Given the description of an element on the screen output the (x, y) to click on. 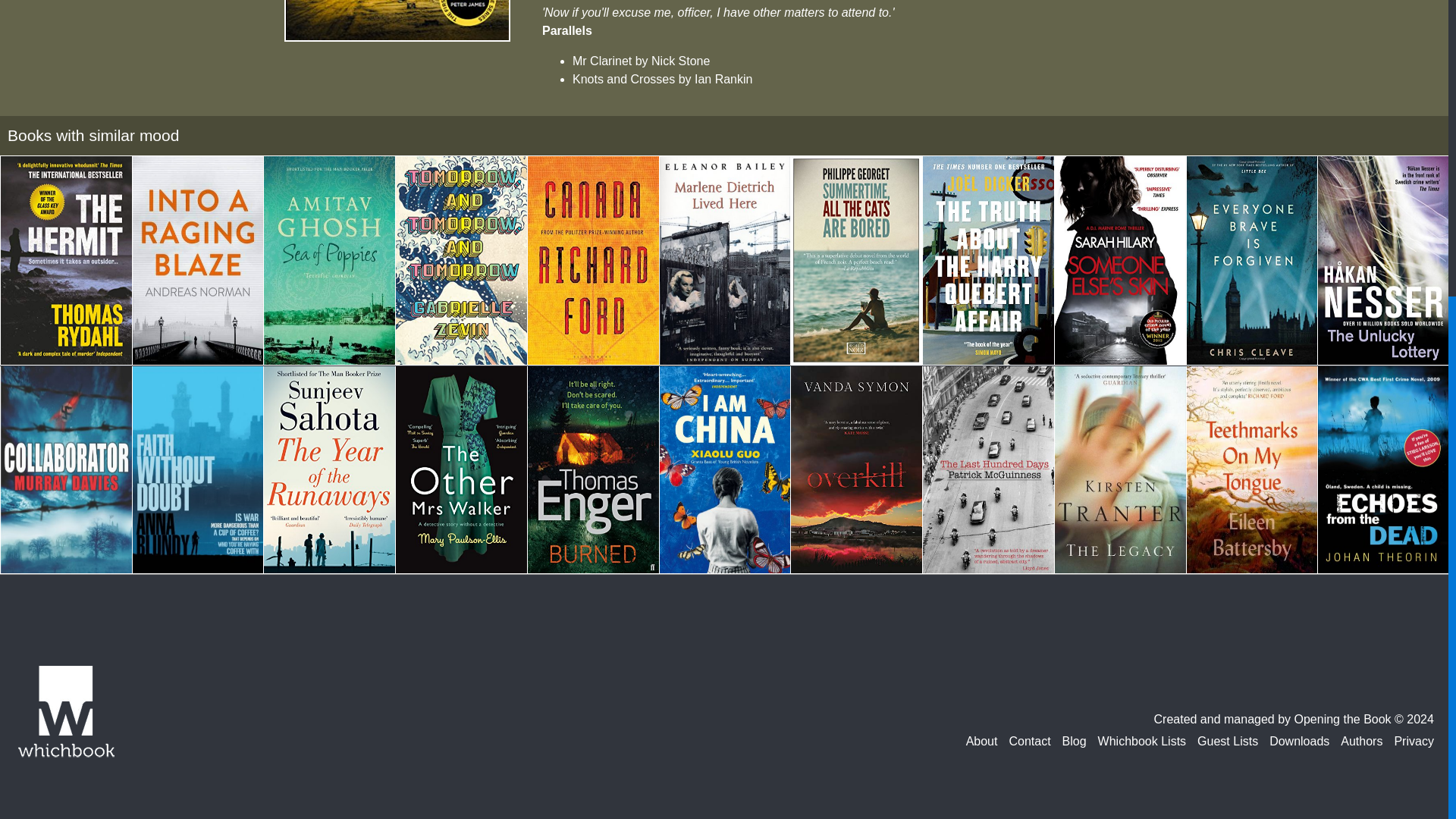
Whichbook (65, 712)
